Given the description of an element on the screen output the (x, y) to click on. 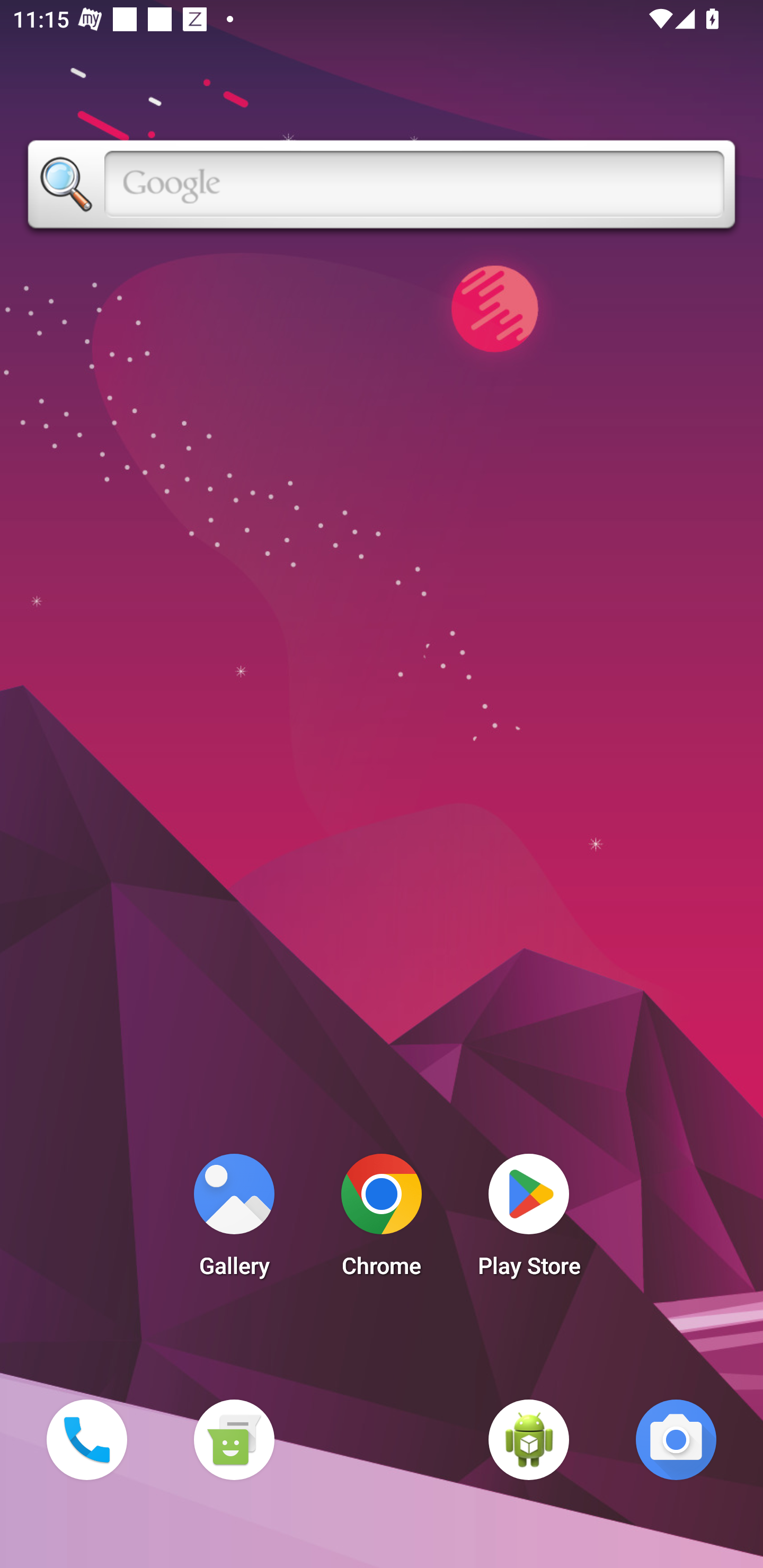
Gallery (233, 1220)
Chrome (381, 1220)
Play Store (528, 1220)
Phone (86, 1439)
Messaging (233, 1439)
WebView Browser Tester (528, 1439)
Camera (676, 1439)
